Given the description of an element on the screen output the (x, y) to click on. 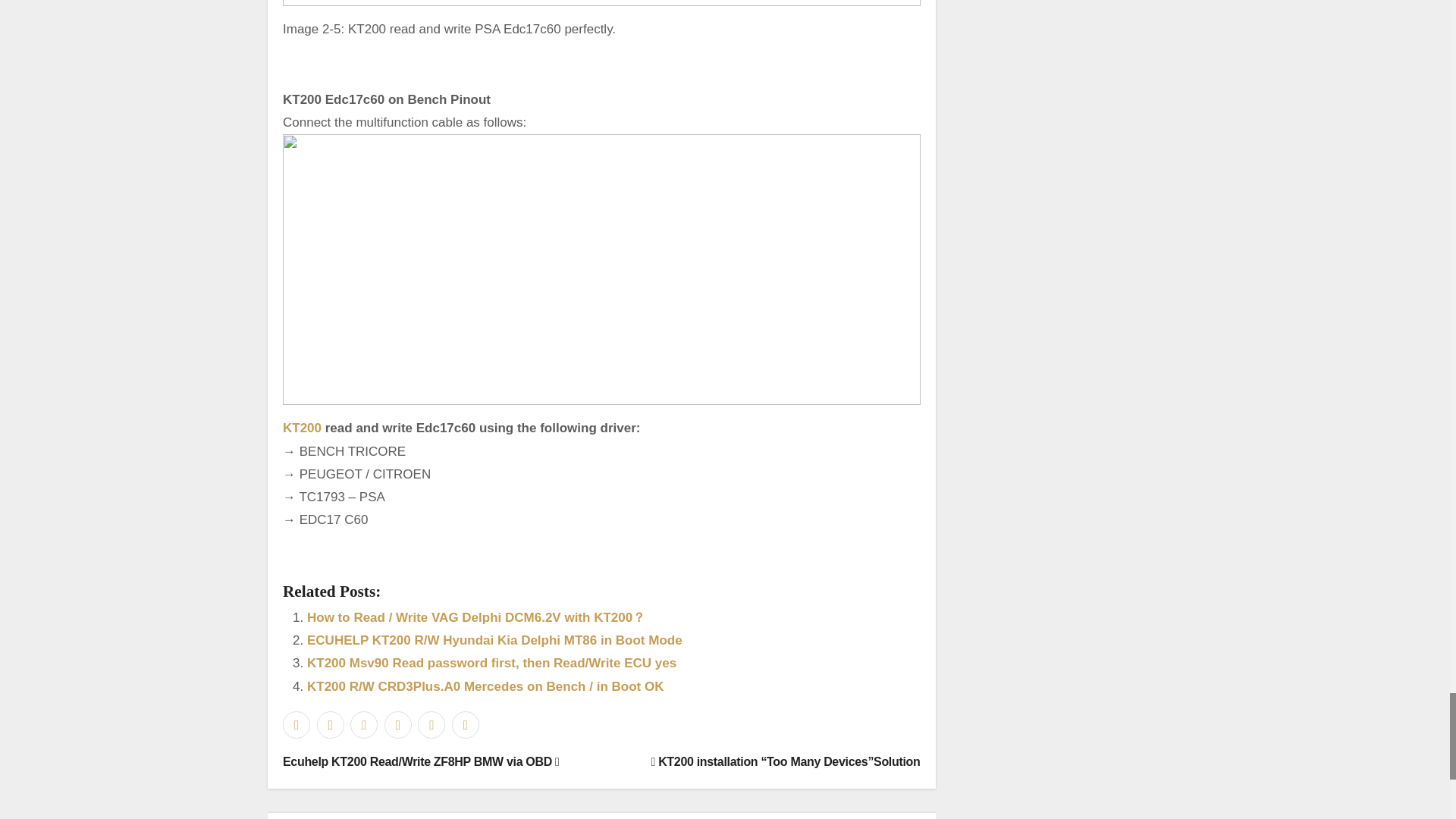
KT200 (301, 427)
